Given the description of an element on the screen output the (x, y) to click on. 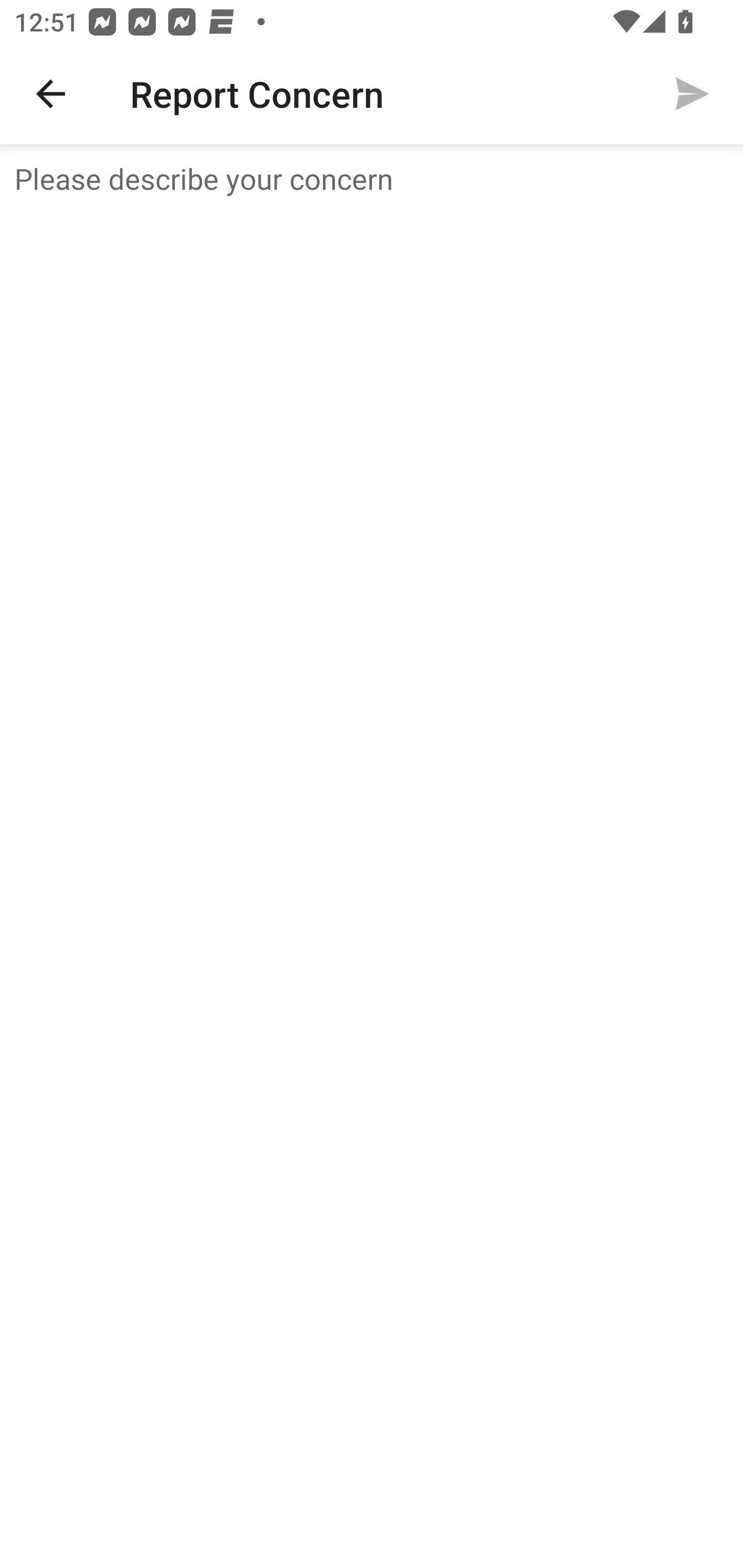
Navigate up (50, 93)
Send (692, 93)
